Given the description of an element on the screen output the (x, y) to click on. 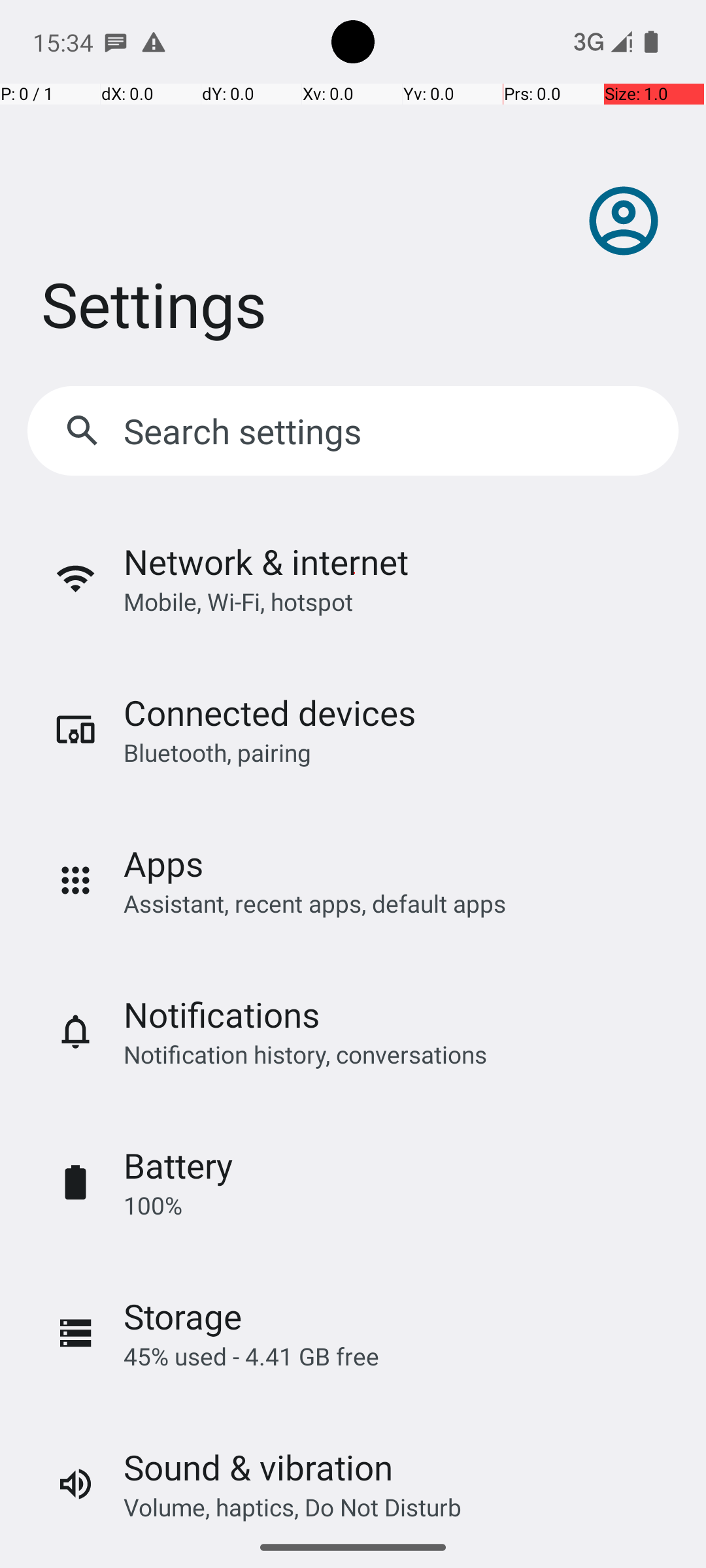
45% used - 4.41 GB free Element type: android.widget.TextView (251, 1355)
